Given the description of an element on the screen output the (x, y) to click on. 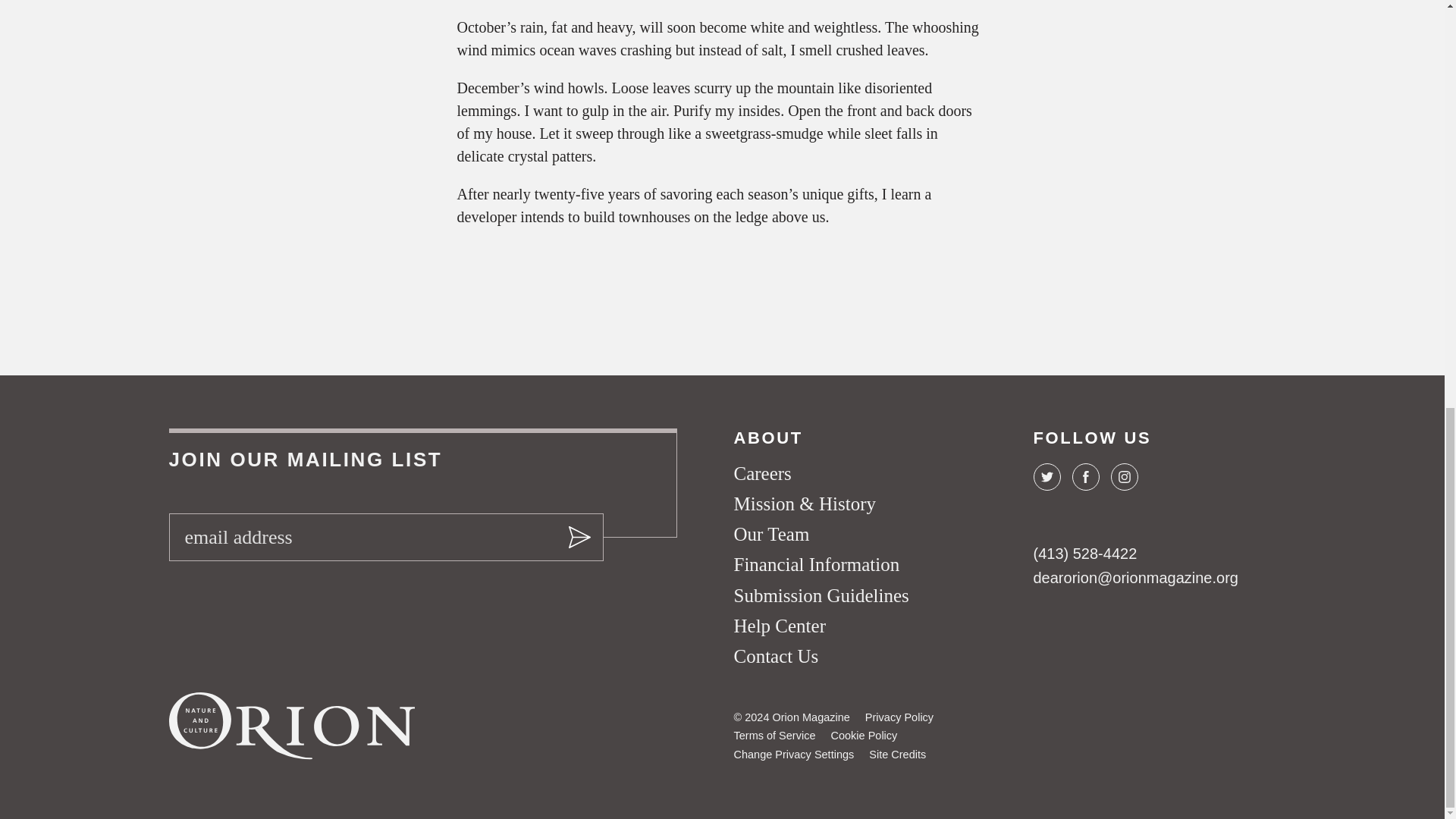
Our Team (771, 534)
On Facebook (1085, 476)
On Twitter (1045, 476)
On Instagram (1123, 476)
Careers (762, 473)
SIGN UP (577, 537)
